Given the description of an element on the screen output the (x, y) to click on. 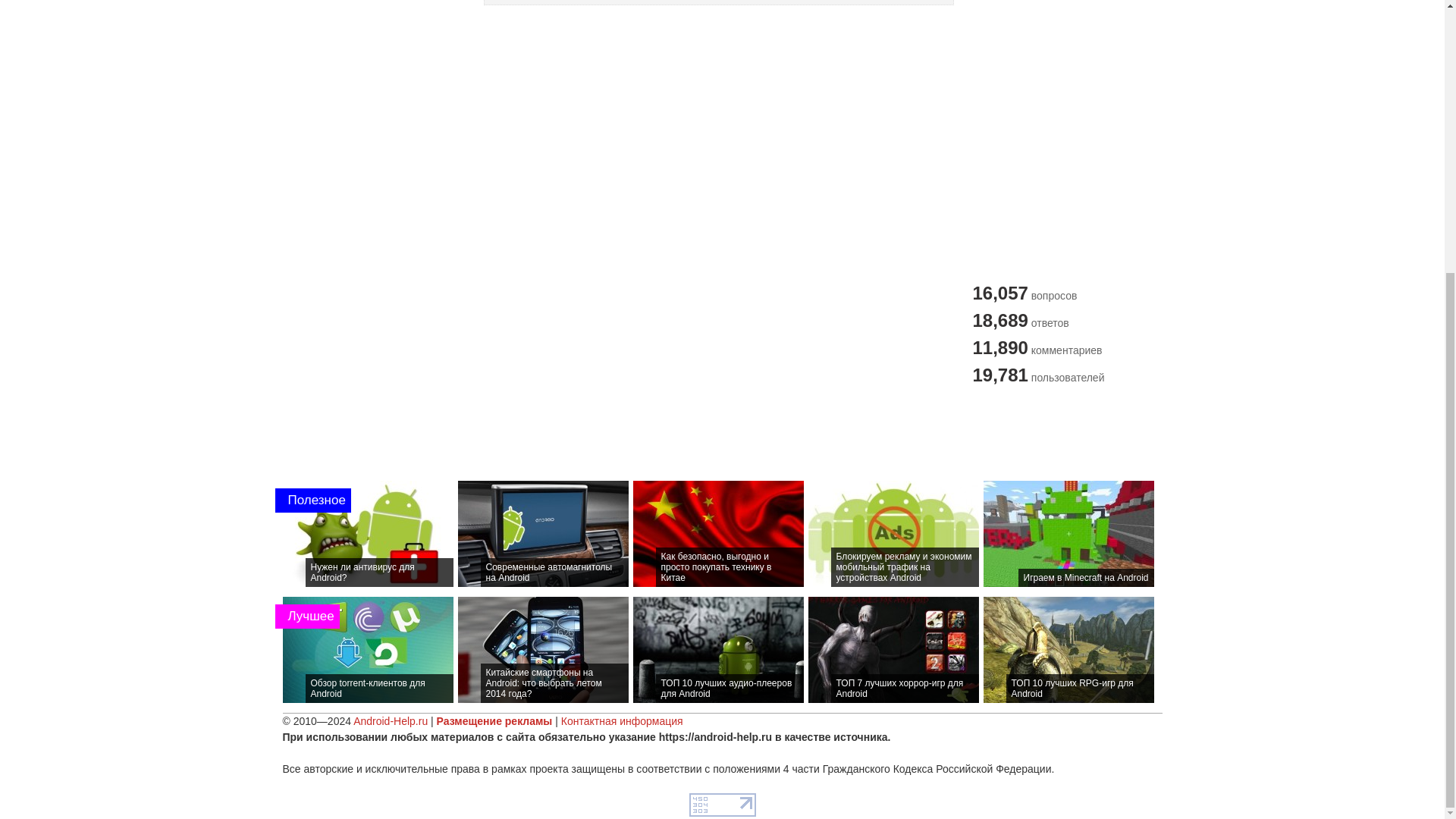
Advertisement (721, 430)
Android-Help.ru (390, 720)
